Given the description of an element on the screen output the (x, y) to click on. 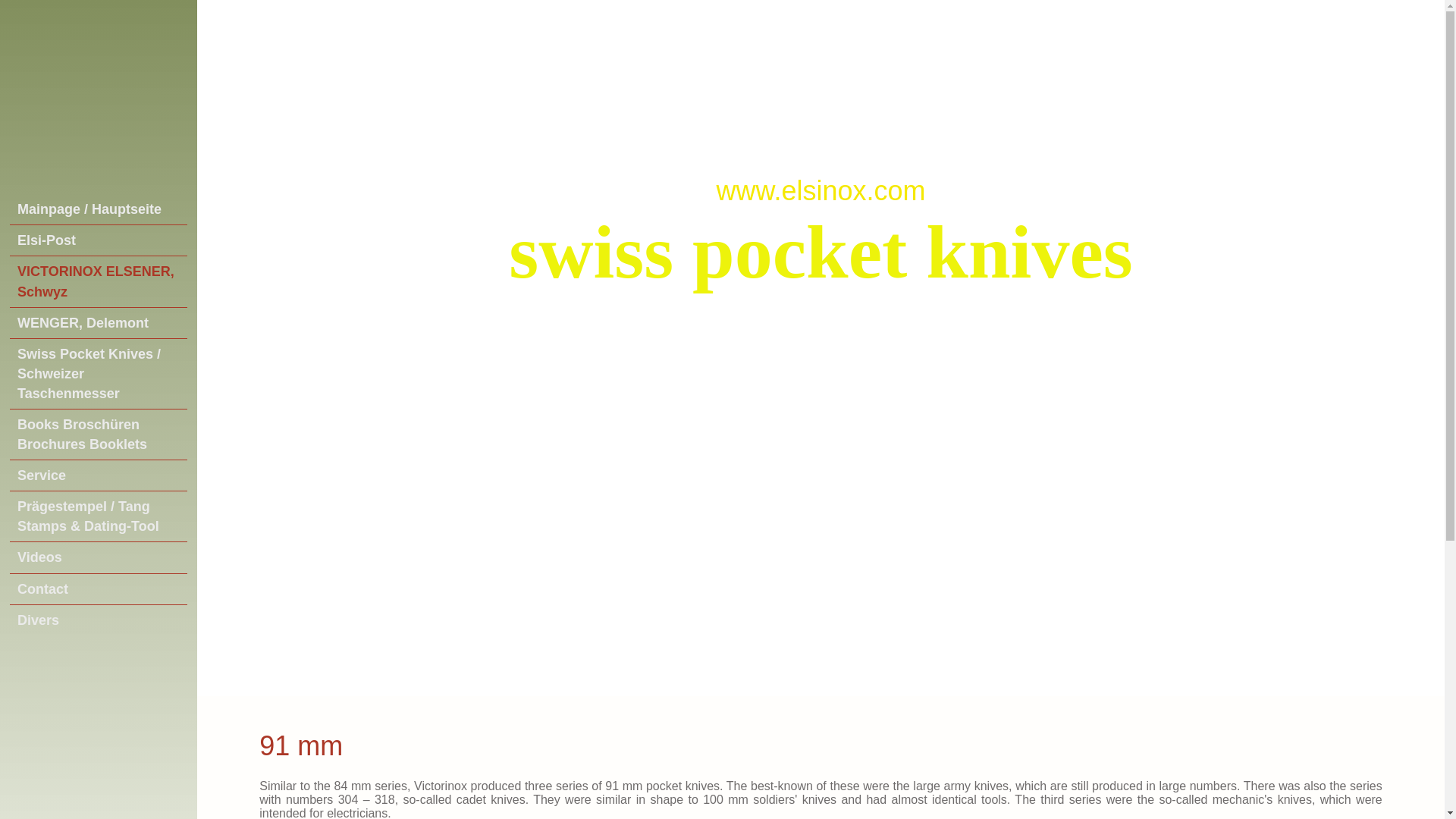
VICTORINOX ELSENER, Schwyz (98, 281)
Elsi-Post (98, 240)
Elsi-Post (98, 240)
VICTORINOX ELSENER, Schwyz (98, 281)
